Given the description of an element on the screen output the (x, y) to click on. 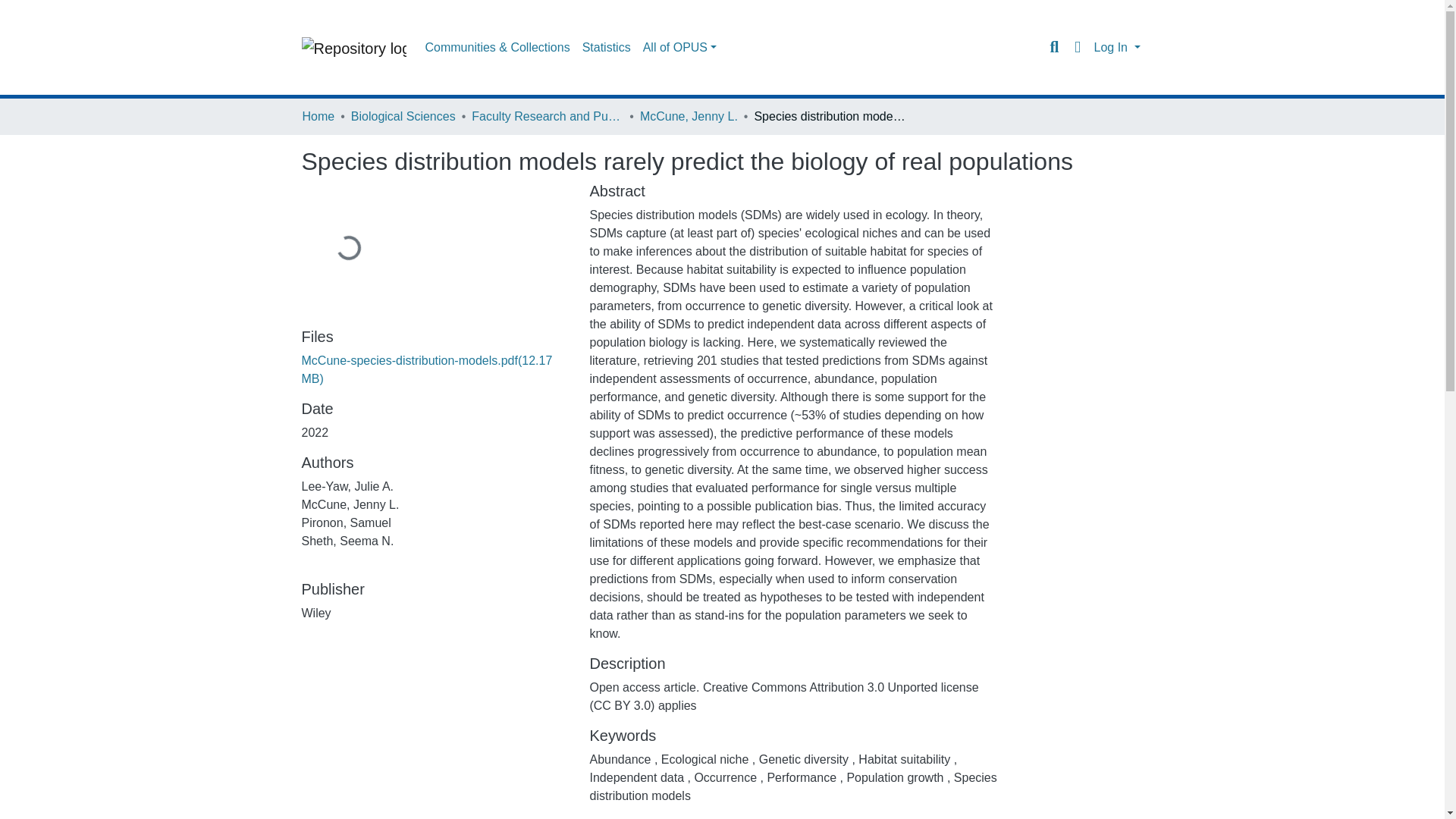
Log In (1116, 47)
All of OPUS (679, 47)
McCune, Jenny L. (689, 116)
Statistics (606, 47)
Language switch (1077, 47)
Faculty Research and Publications (547, 116)
Biological Sciences (402, 116)
Search (1053, 47)
Statistics (606, 47)
Home (317, 116)
